Given the description of an element on the screen output the (x, y) to click on. 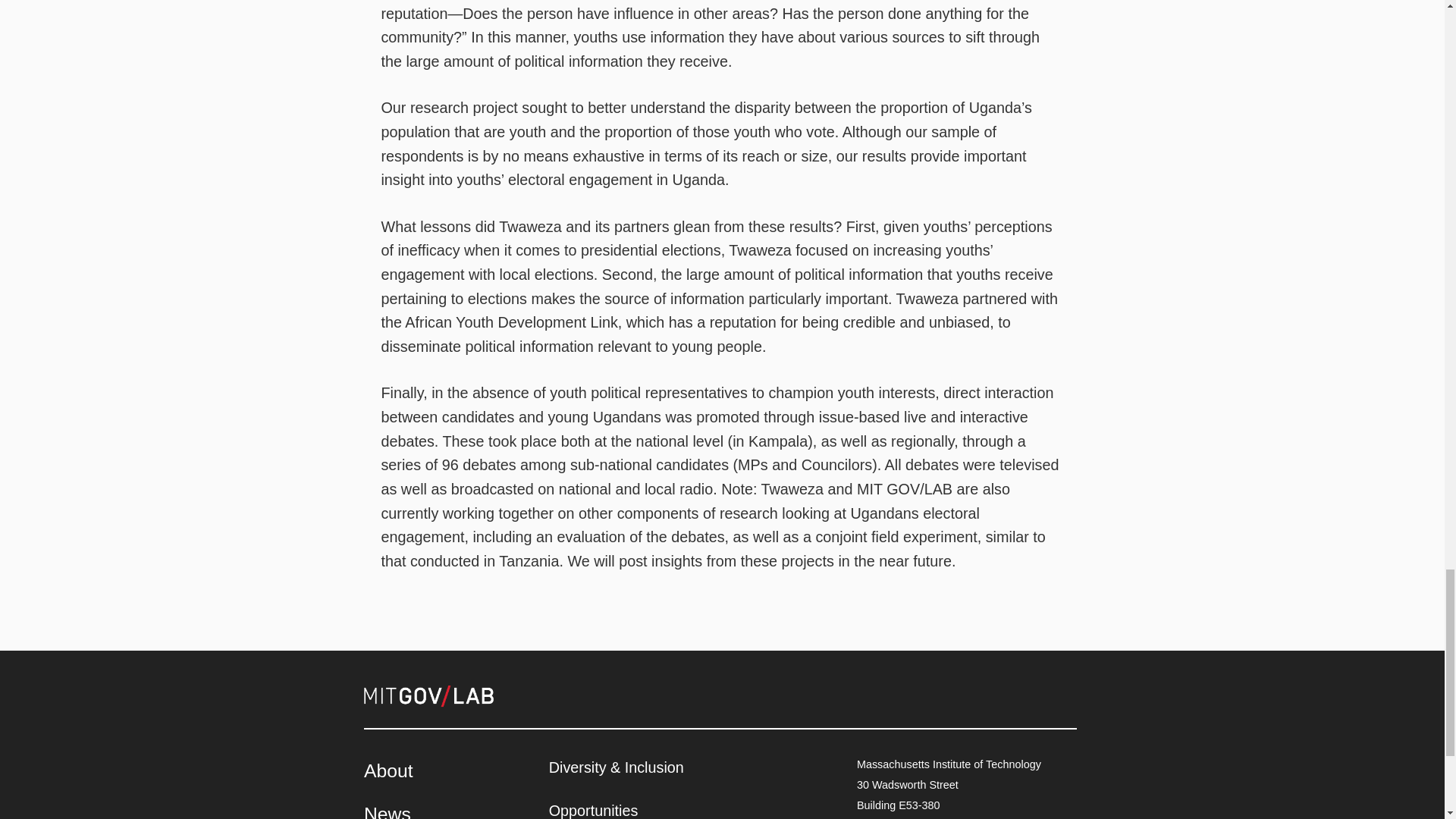
About (388, 770)
Opportunities (593, 810)
News (387, 811)
